Given the description of an element on the screen output the (x, y) to click on. 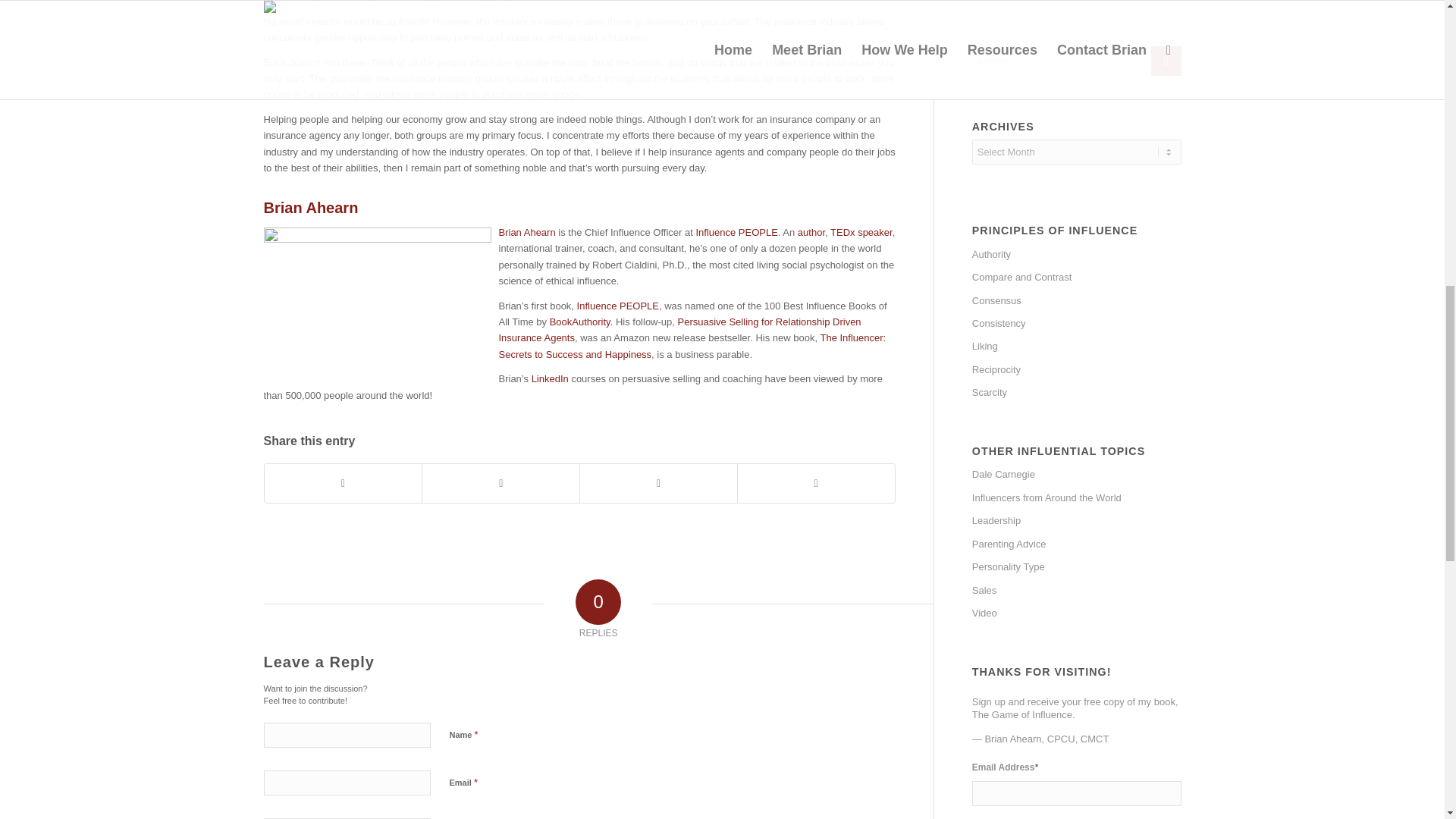
Influence PEOPLE (736, 232)
LinkedIn (550, 378)
Influence PEOPLE (617, 306)
BookAuthority (580, 321)
The Influencer: Secrets to Success and Happiness (692, 345)
author (811, 232)
Brian Ahearn (527, 232)
Persuasive Selling for Relationship Driven Insurance Agents (680, 329)
TEDx speaker (860, 232)
